Given the description of an element on the screen output the (x, y) to click on. 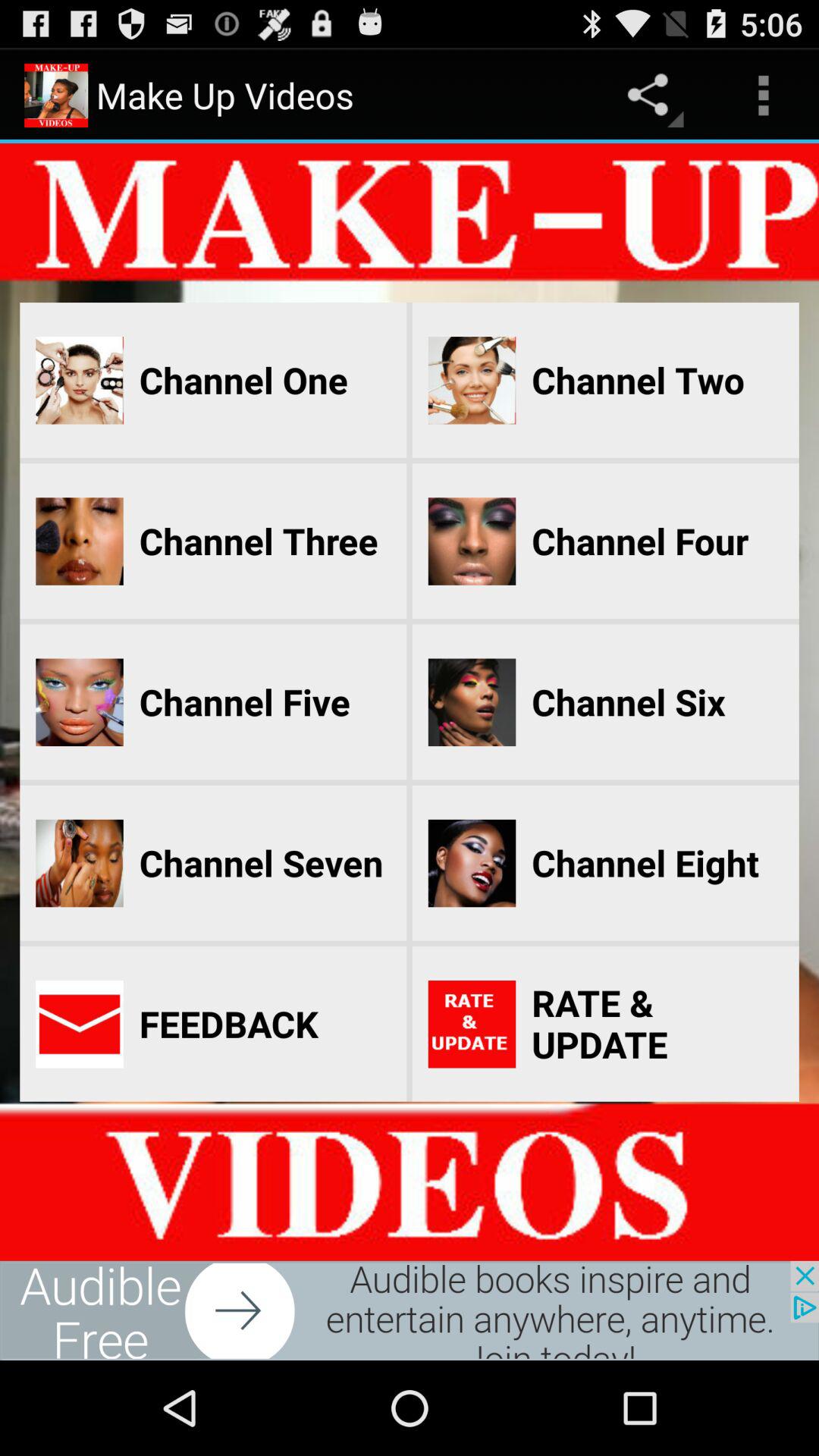
advertisement (409, 1310)
